Given the description of an element on the screen output the (x, y) to click on. 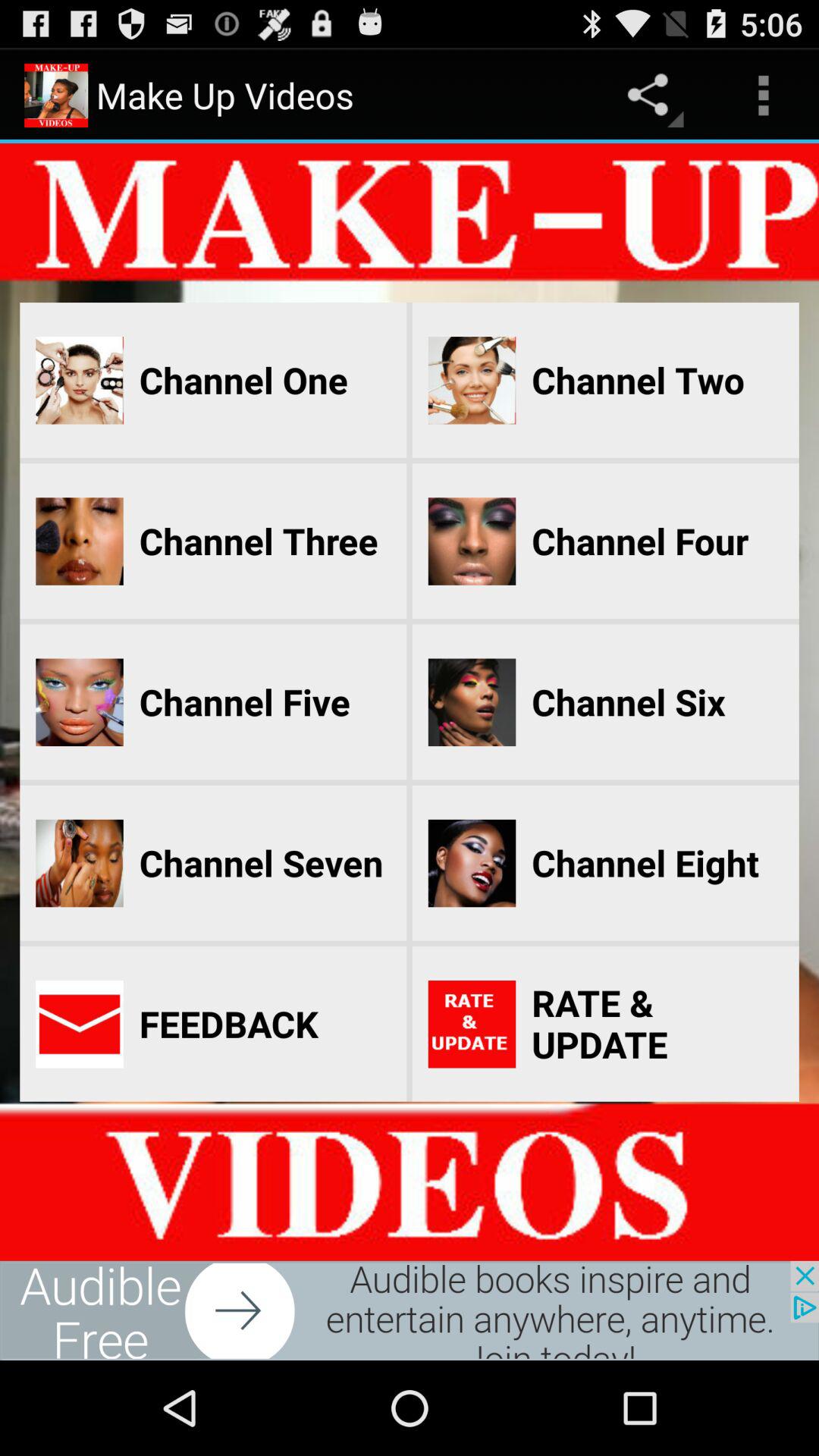
advertisement (409, 1310)
